Given the description of an element on the screen output the (x, y) to click on. 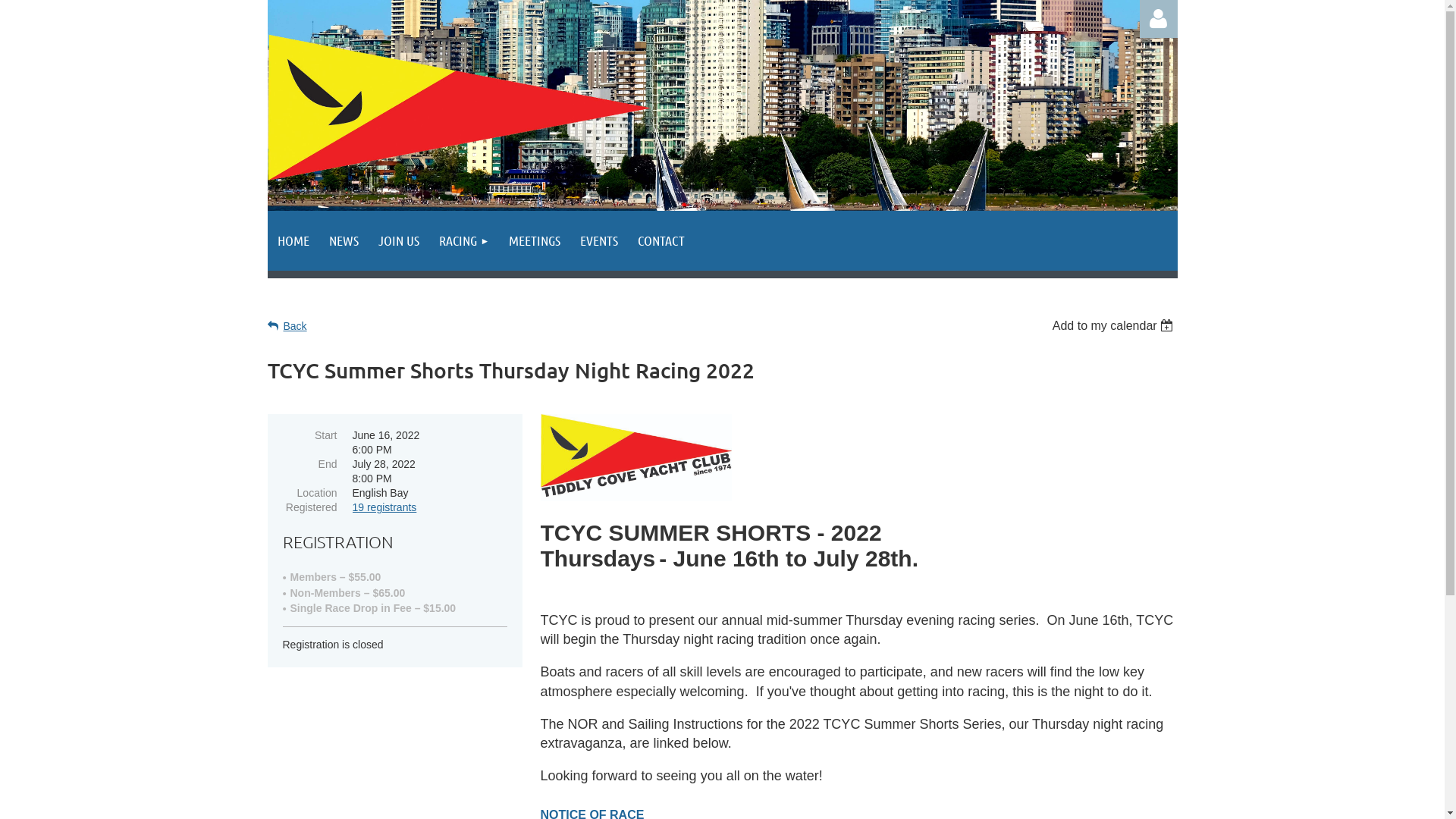
EVENTS Element type: text (598, 240)
19 registrants Element type: text (383, 507)
HOME Element type: text (292, 240)
Back Element type: text (286, 326)
CONTACT Element type: text (660, 240)
MEETINGS Element type: text (534, 240)
Log in Element type: text (1157, 18)
RACING Element type: text (464, 240)
NEWS Element type: text (342, 240)
JOIN US Element type: text (398, 240)
